Given the description of an element on the screen output the (x, y) to click on. 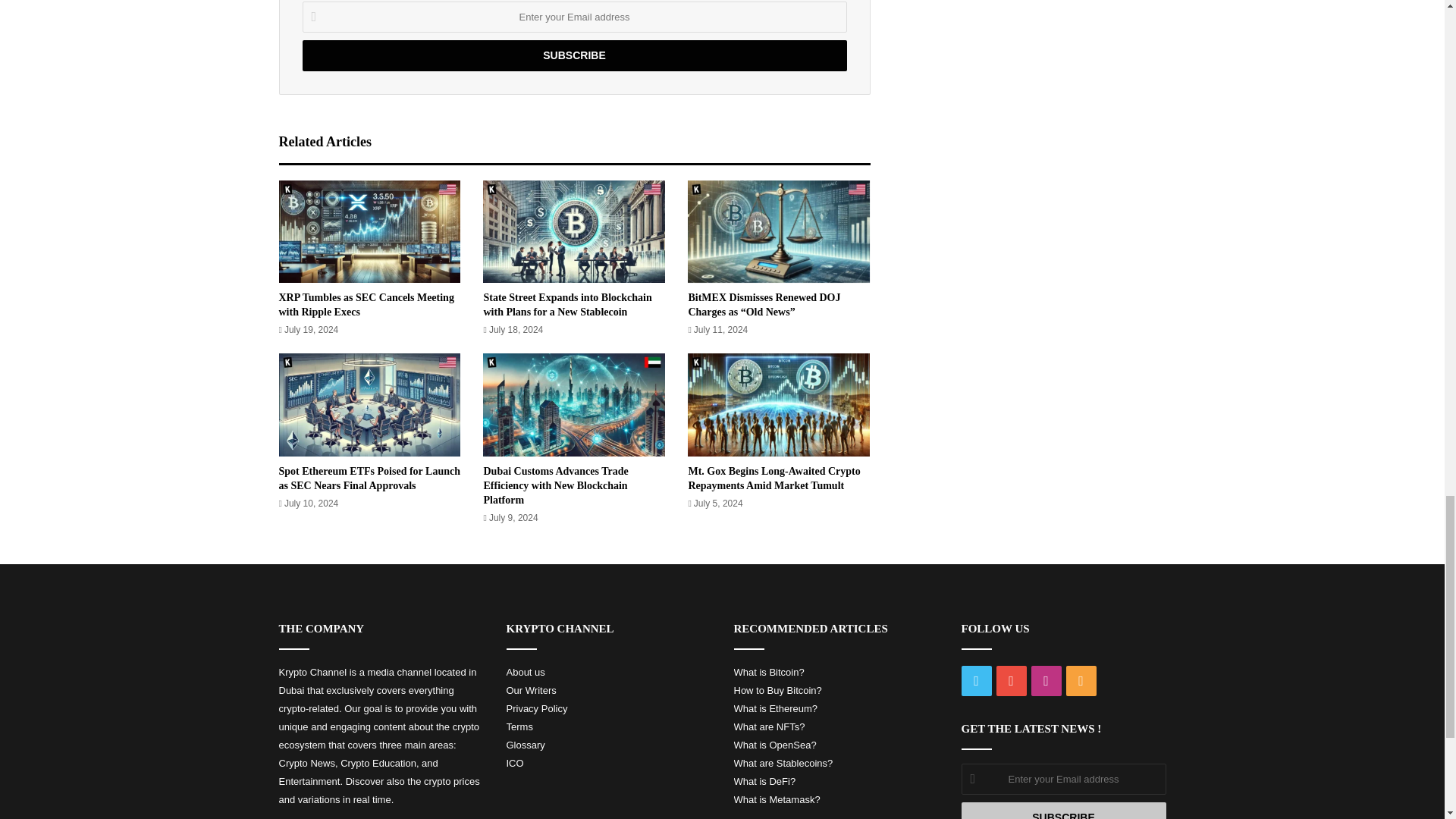
Subscribe (573, 55)
Subscribe (1063, 810)
